Given the description of an element on the screen output the (x, y) to click on. 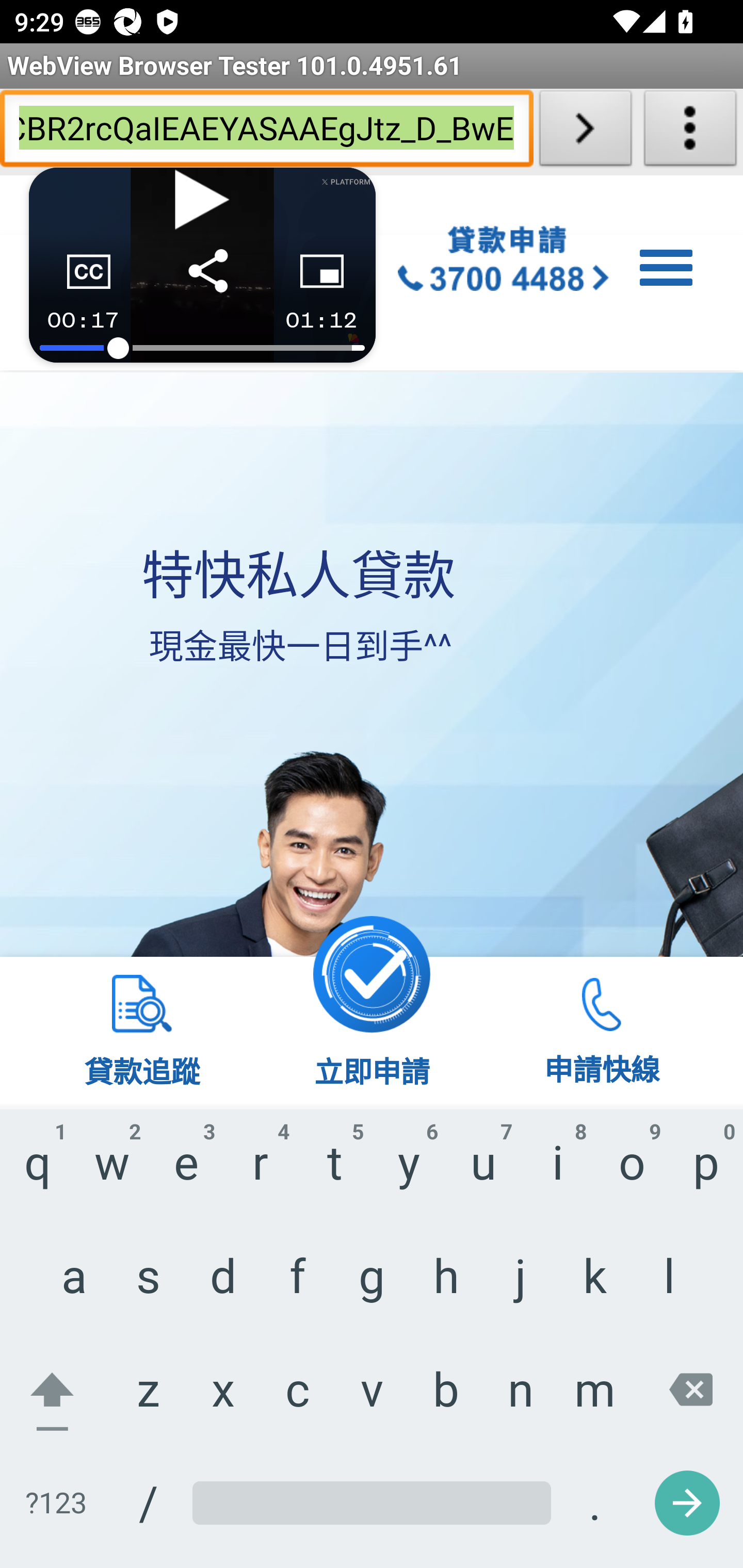
Load URL (585, 132)
About WebView (690, 132)
Group-2430 (503, 262)
